Given the description of an element on the screen output the (x, y) to click on. 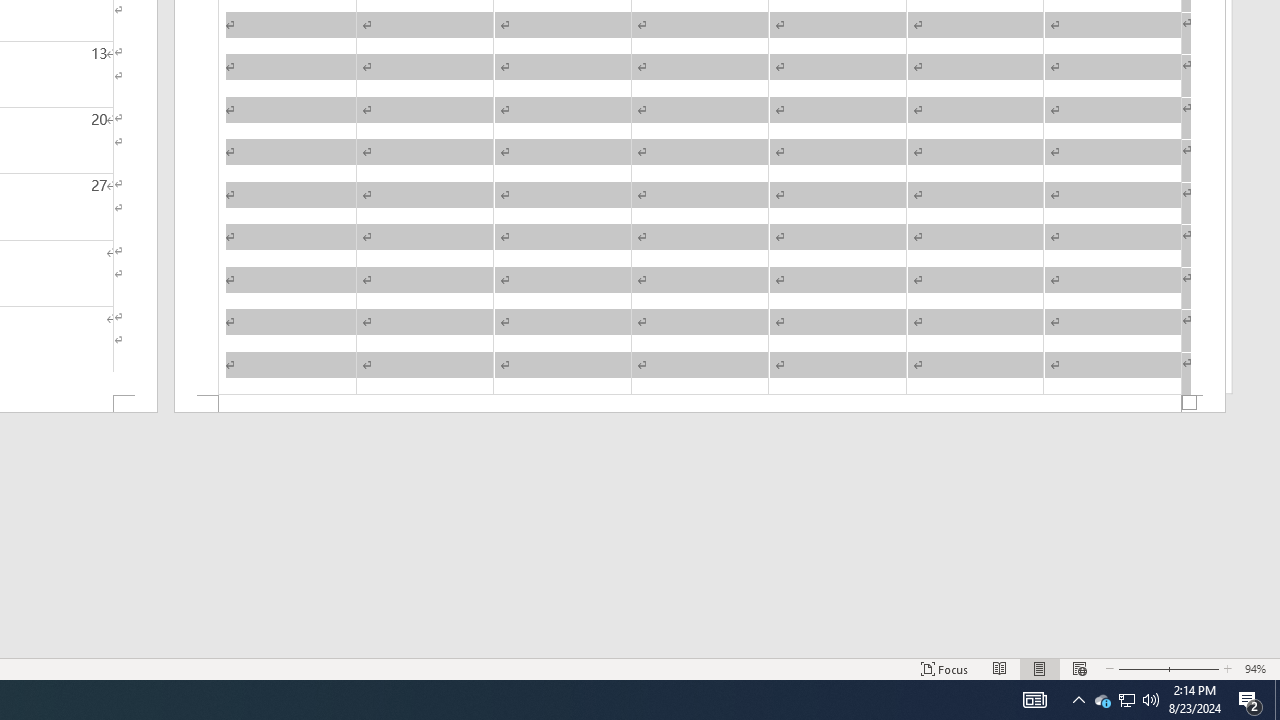
Footer -Section 1- (700, 404)
